Given the description of an element on the screen output the (x, y) to click on. 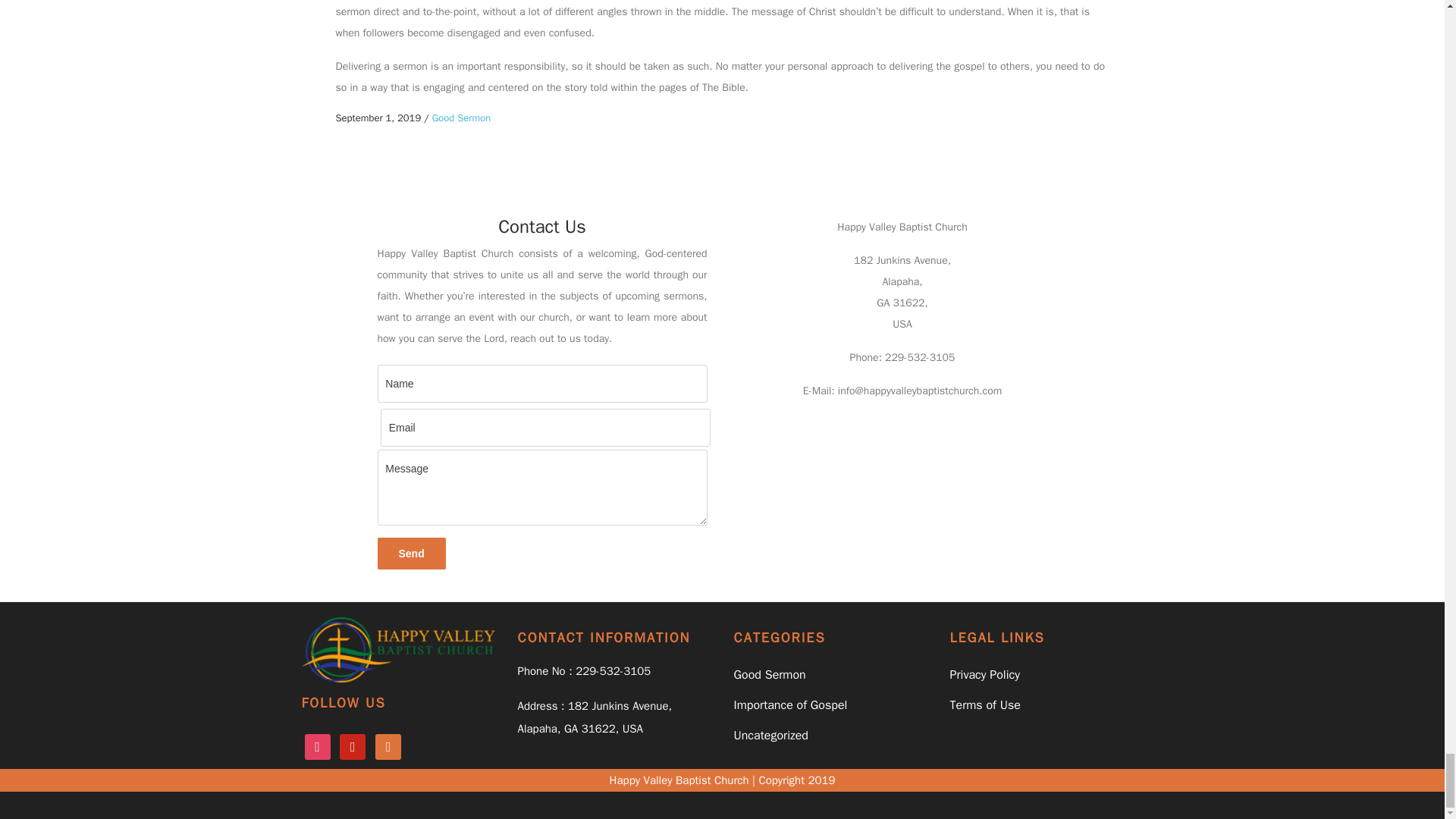
Send (411, 553)
Good Sermon (461, 117)
182 Junkins Avenue, Alapaha, GA 31622, USA (593, 717)
Privacy Policy (984, 674)
instagram (317, 745)
Importance of Gospel (790, 704)
Good Sermon (461, 117)
pinterest (352, 745)
Send (411, 553)
Good Sermon (769, 674)
wordpress (388, 745)
Uncategorized (770, 735)
